Given the description of an element on the screen output the (x, y) to click on. 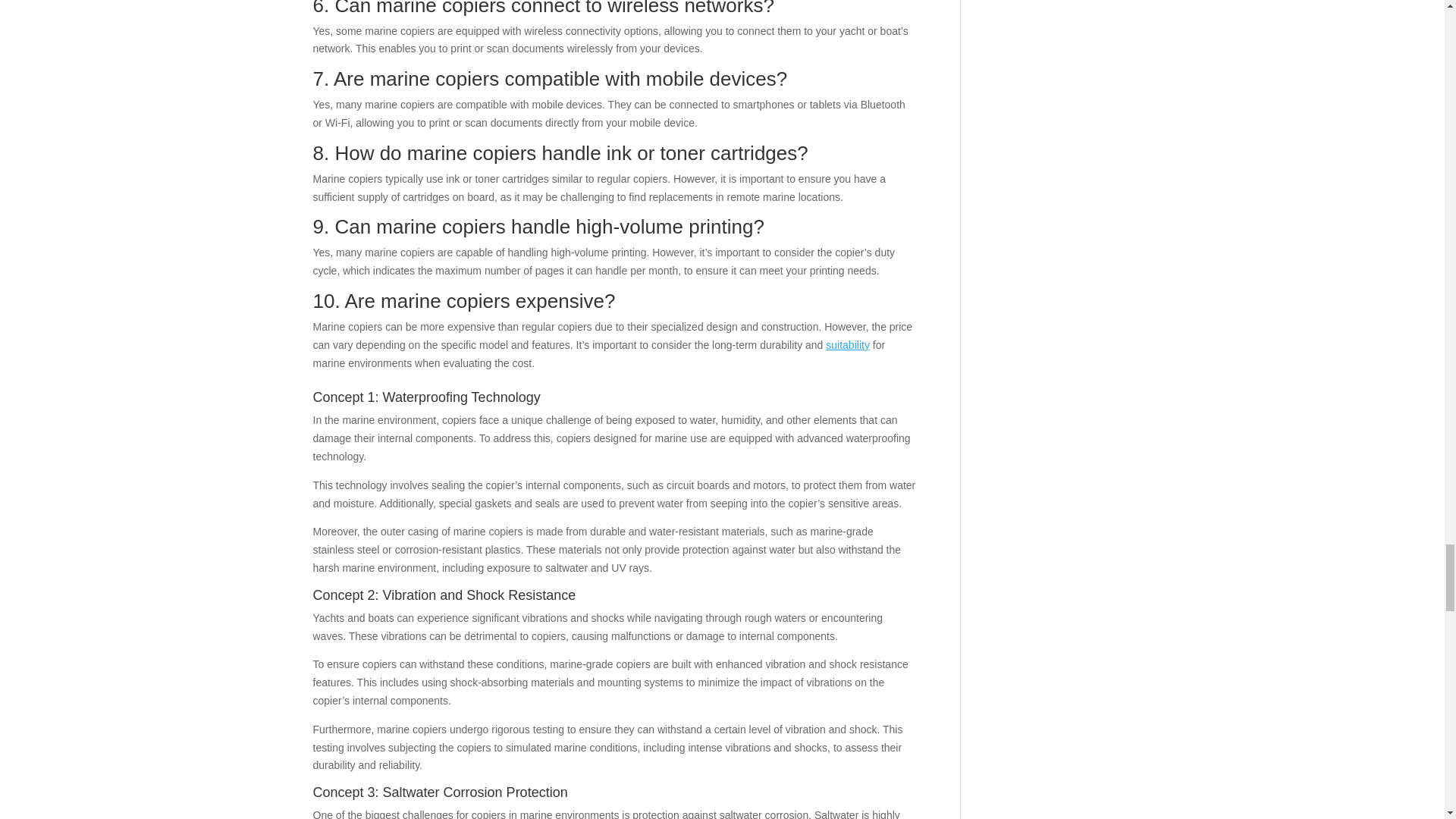
suitability (847, 345)
